Given the description of an element on the screen output the (x, y) to click on. 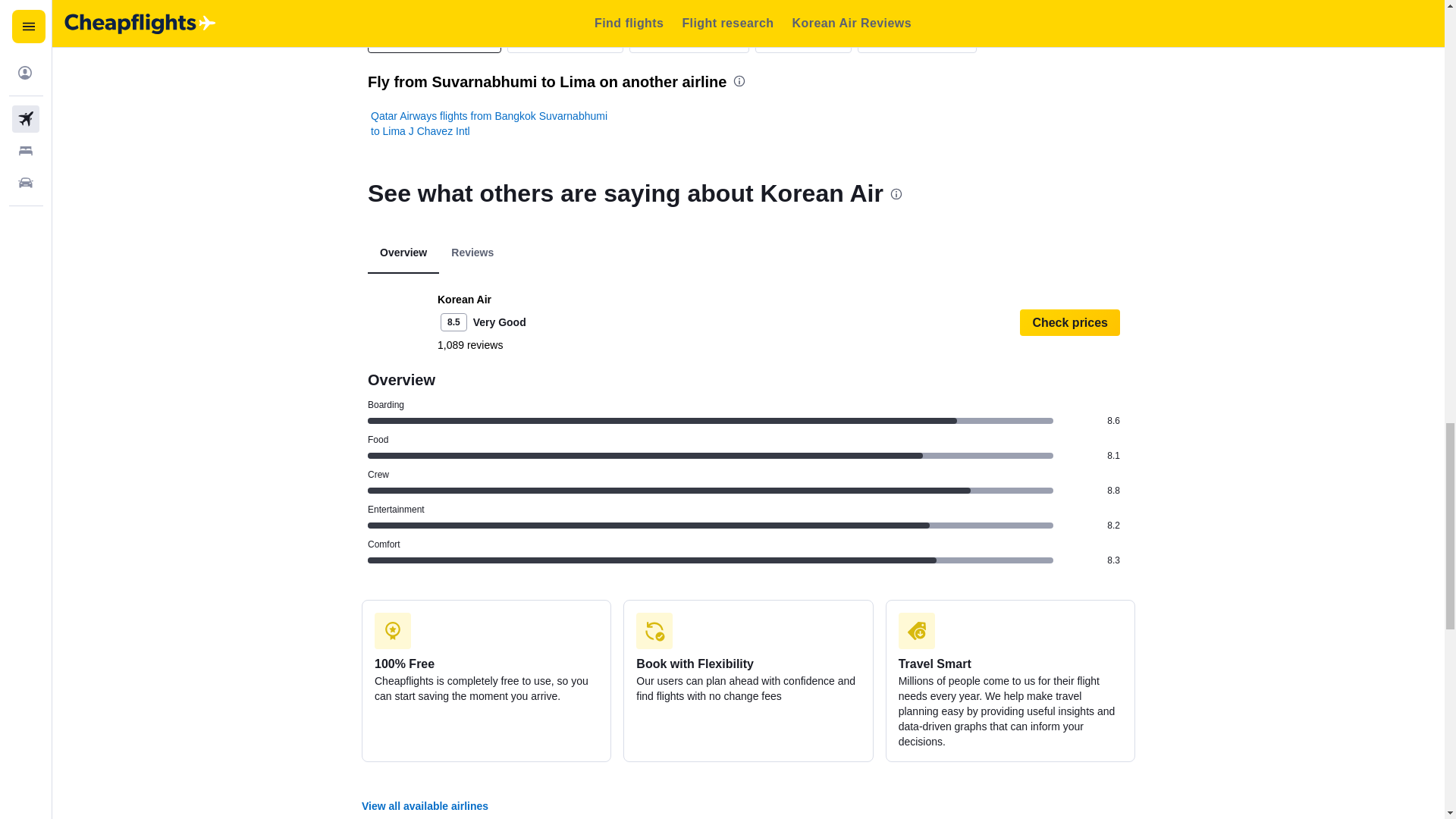
Airlines serving Lima (434, 38)
Complete your trip (688, 38)
Other carriers (803, 38)
Alternative routes (564, 38)
Other destinations (916, 38)
